Given the description of an element on the screen output the (x, y) to click on. 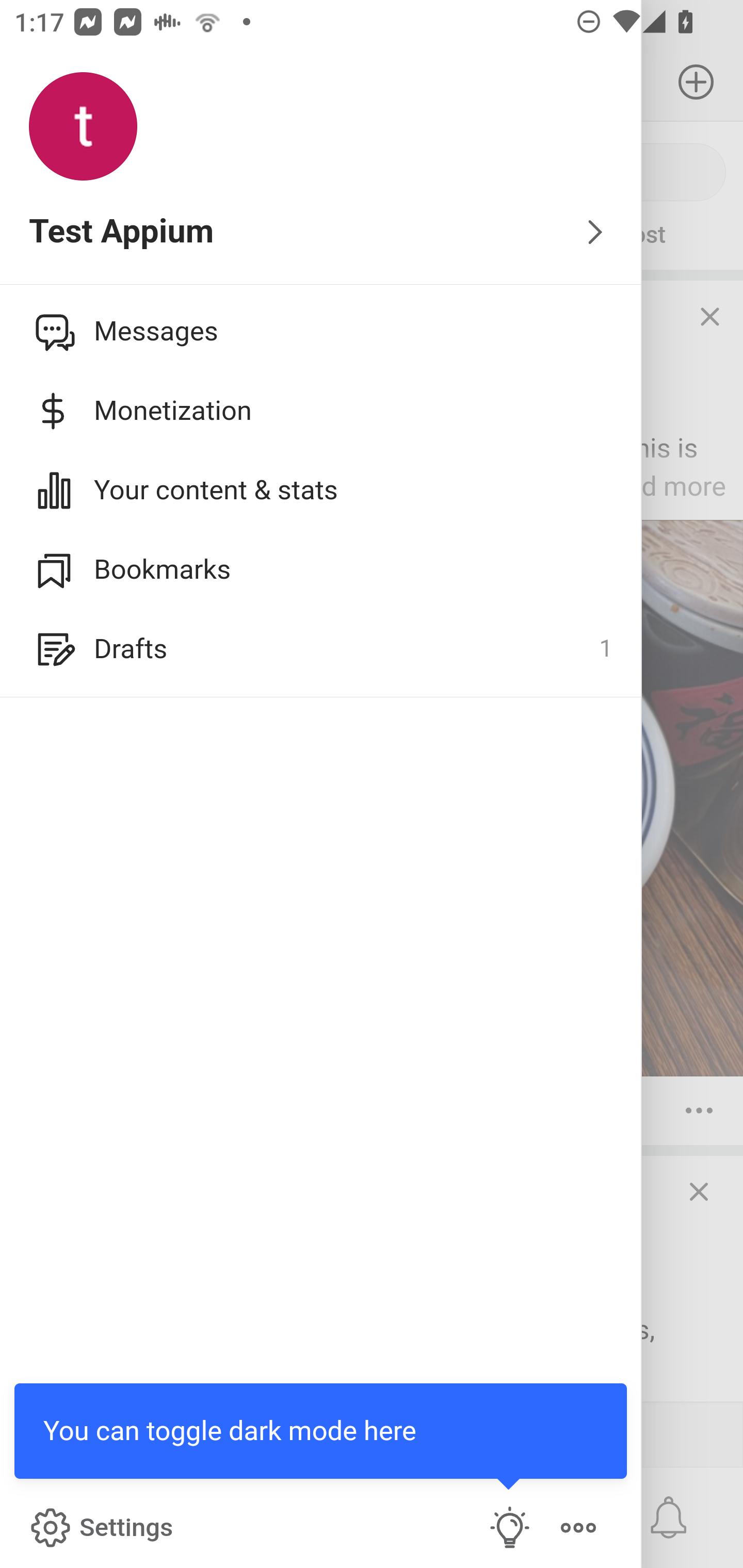
Profile photo for Test Appium (82, 126)
Test Appium (321, 232)
Messages (321, 330)
Profile photo for Li Pengii (50, 330)
Monetization (321, 410)
Your content & stats (321, 489)
Bookmarks (321, 568)
Drafts 1 Drafts 1 (321, 648)
1 (605, 648)
You can toggle dark mode here (321, 1431)
Settings (99, 1527)
You can toggle dark mode here (509, 1527)
More (578, 1527)
